Given the description of an element on the screen output the (x, y) to click on. 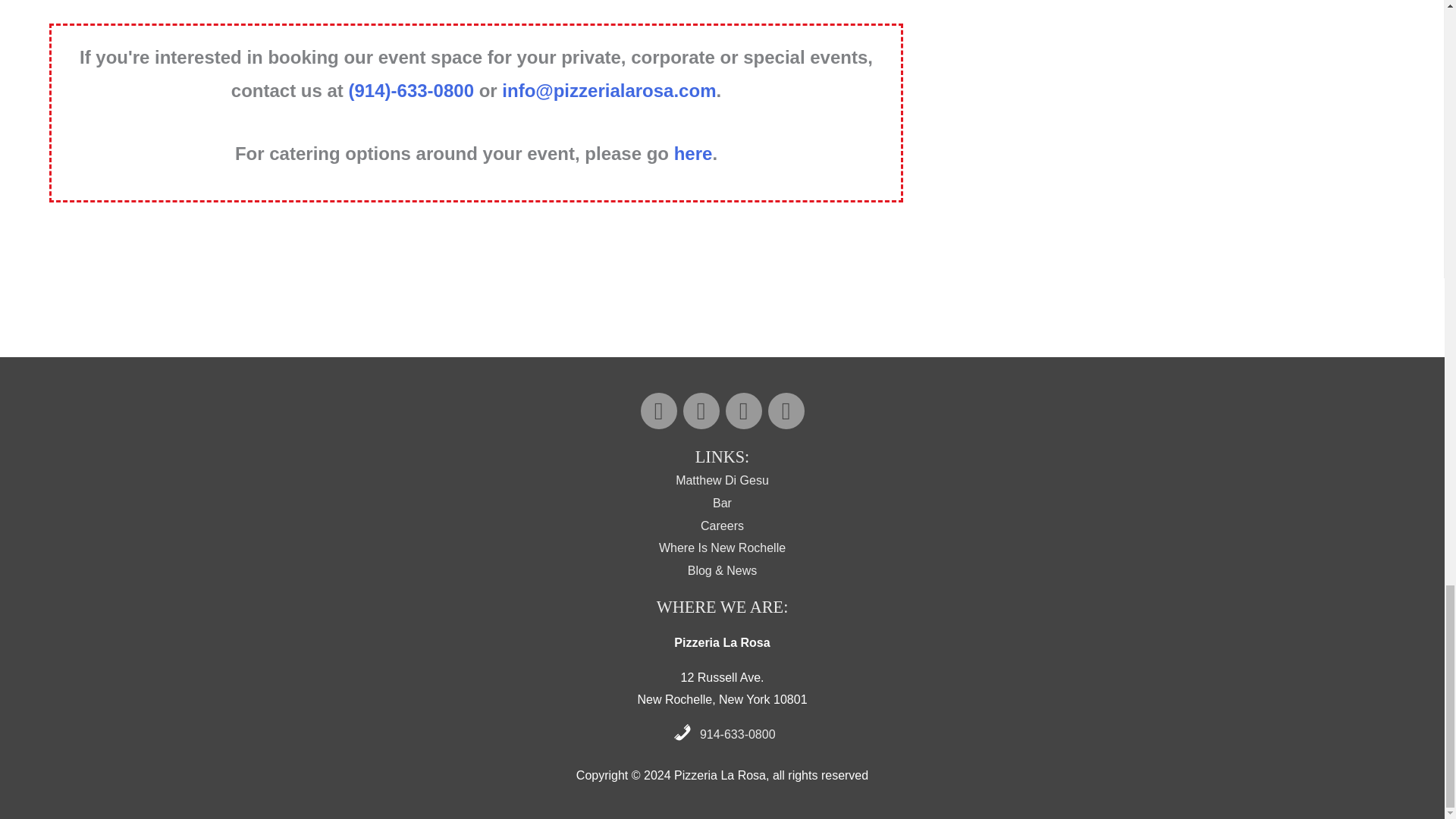
Instagram (658, 411)
Facebook (700, 411)
Matthew Di Gesu (721, 480)
TripAdvisor (785, 411)
914-633-0800 (738, 734)
here (693, 153)
Bar (722, 502)
Careers (722, 525)
Where Is New Rochelle (722, 547)
Yelp (743, 411)
